Given the description of an element on the screen output the (x, y) to click on. 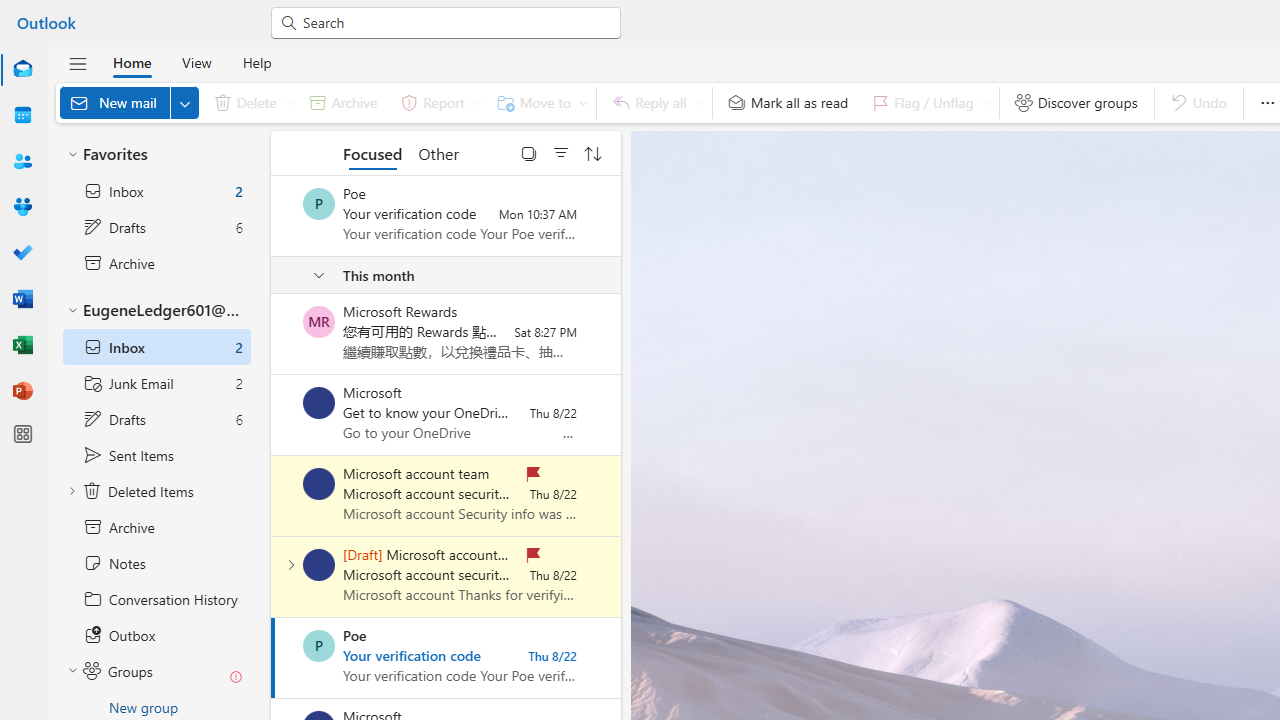
Discover groups (1076, 102)
Flag / Unflag (927, 102)
Home (132, 61)
People (22, 161)
Hide navigation pane (77, 63)
Focused (372, 152)
Other (438, 152)
Poe (319, 645)
Reply all (654, 102)
Mark as read (273, 657)
Filter (561, 152)
Expand to see more report options (477, 102)
Help (256, 61)
